Given the description of an element on the screen output the (x, y) to click on. 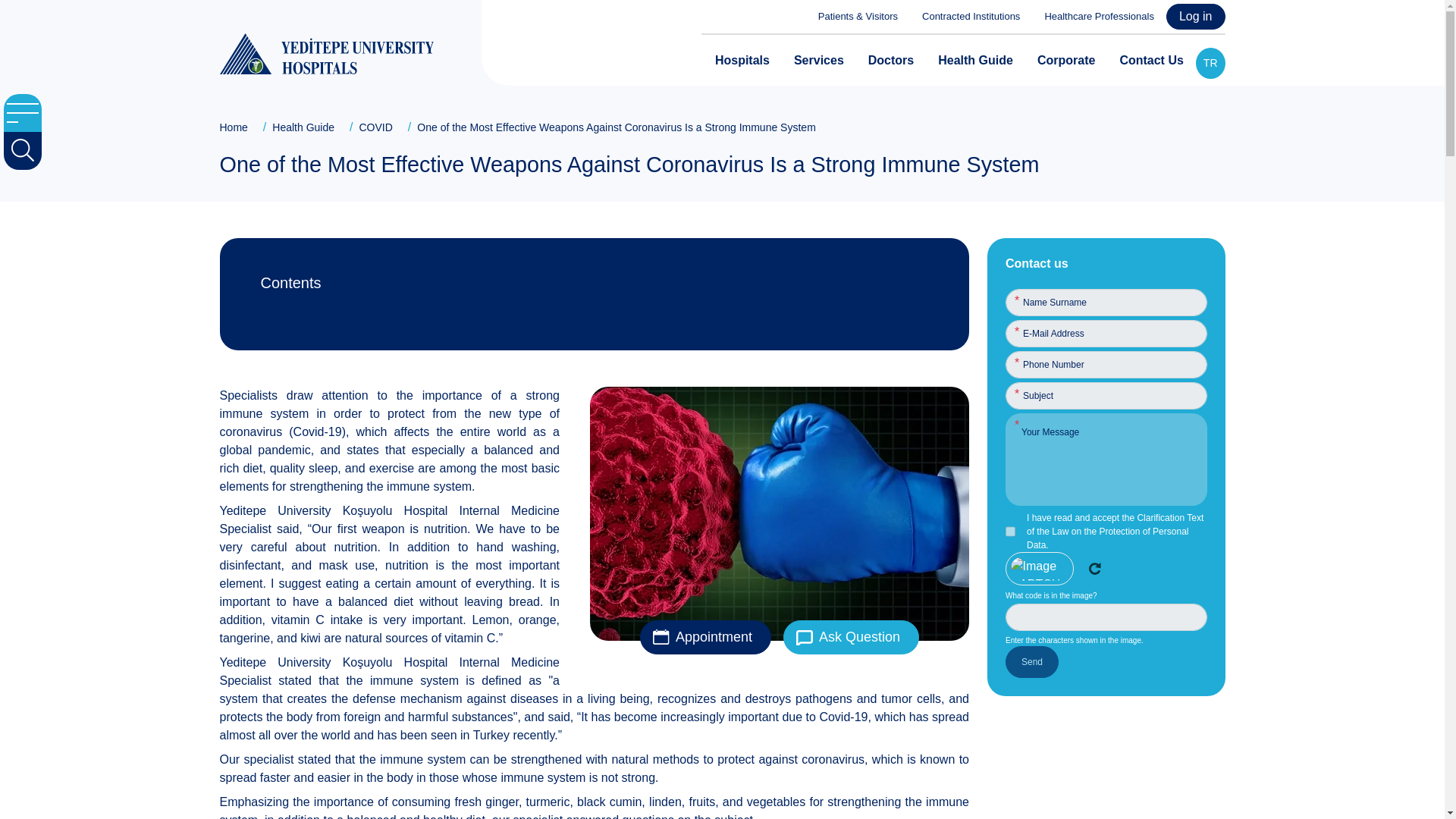
Contracted Institutions (965, 16)
Hospitals (742, 60)
Doctors (891, 60)
Send (1032, 662)
Corporate (1065, 60)
Services (818, 60)
Contact Us (1150, 60)
Health Guide (975, 60)
Healthcare Professionals (1093, 16)
Log in (1195, 16)
Contact Us (1150, 60)
Doctors (891, 60)
Healthcare Professionals (1093, 16)
Contracted Institutions (965, 16)
Services (818, 60)
